Given the description of an element on the screen output the (x, y) to click on. 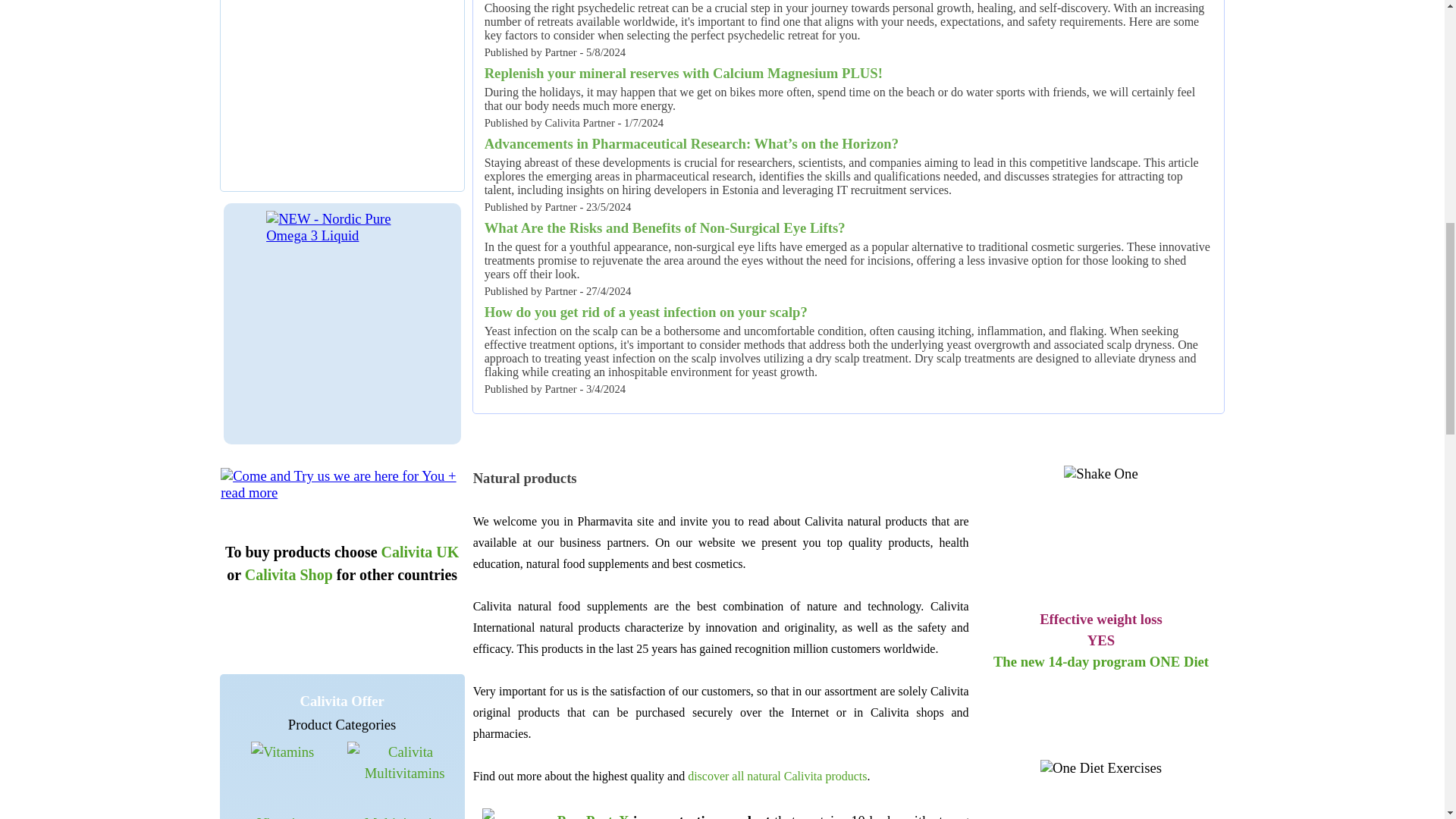
Nordic Pure Omega 3 Liquid (341, 227)
About us (342, 484)
Calivita Multivitamins (404, 762)
Vitamins (282, 752)
